Given the description of an element on the screen output the (x, y) to click on. 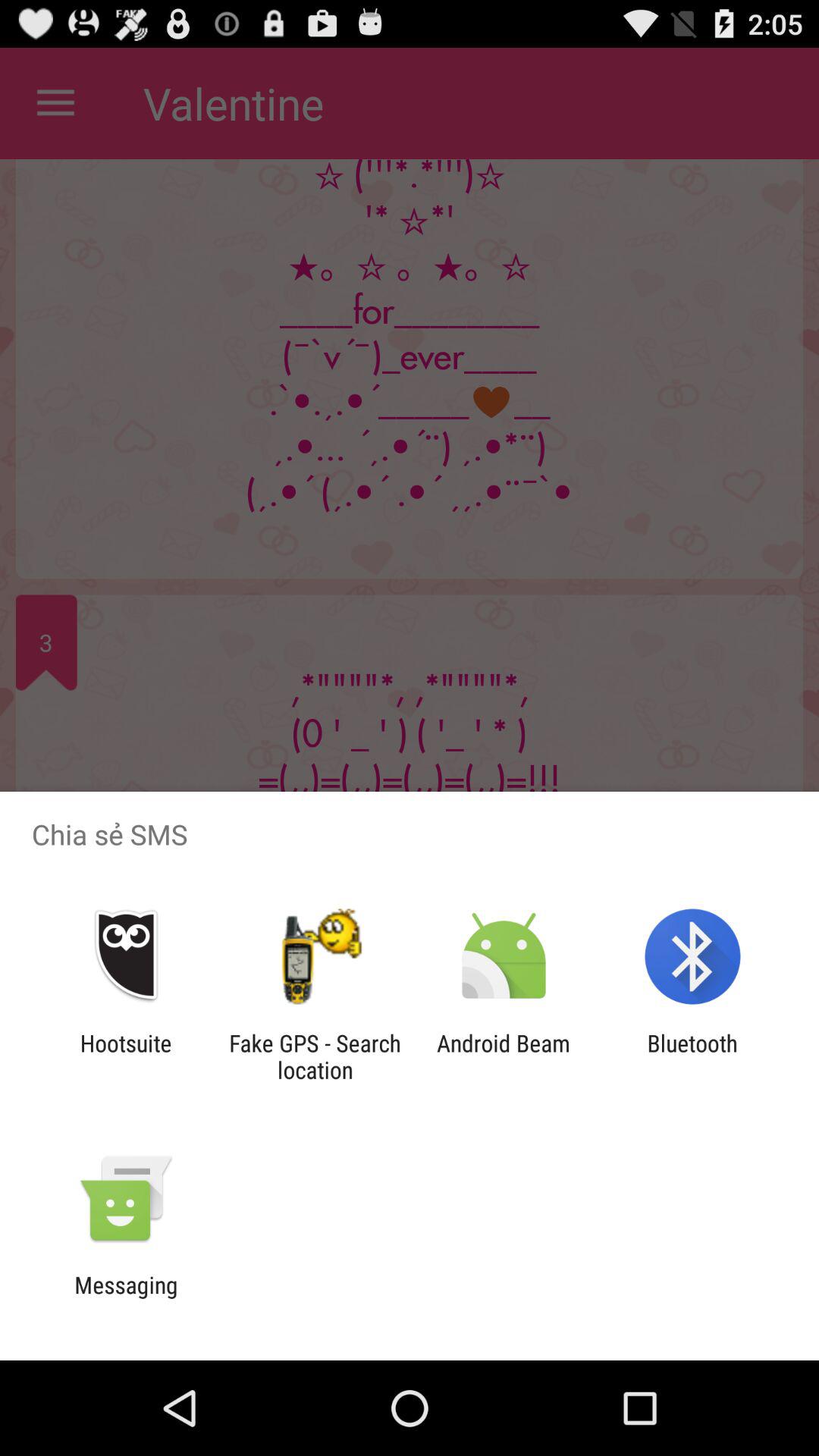
launch the app to the left of bluetooth item (503, 1056)
